Given the description of an element on the screen output the (x, y) to click on. 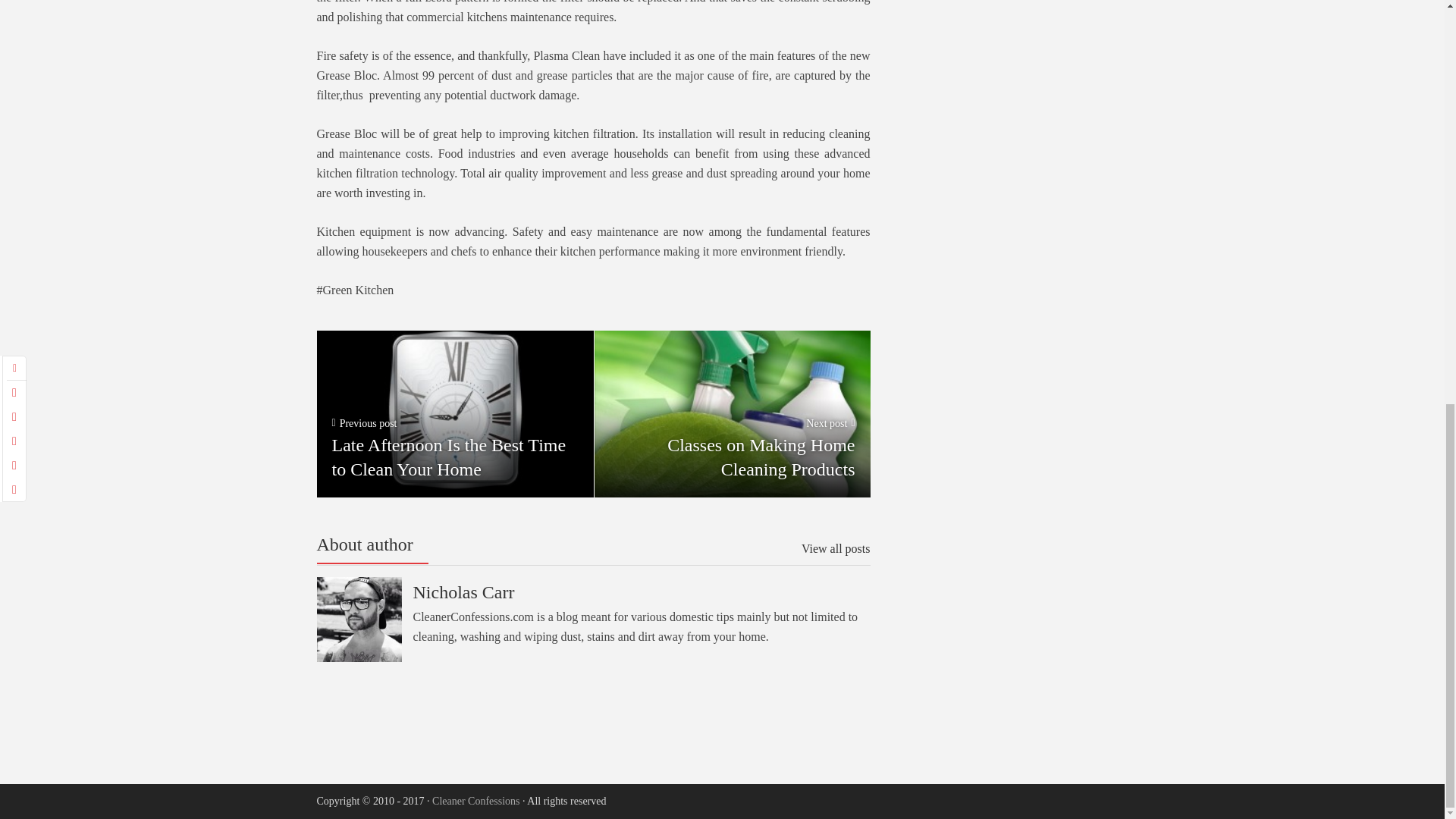
Green Kitchen (355, 289)
View all posts (732, 413)
